Given the description of an element on the screen output the (x, y) to click on. 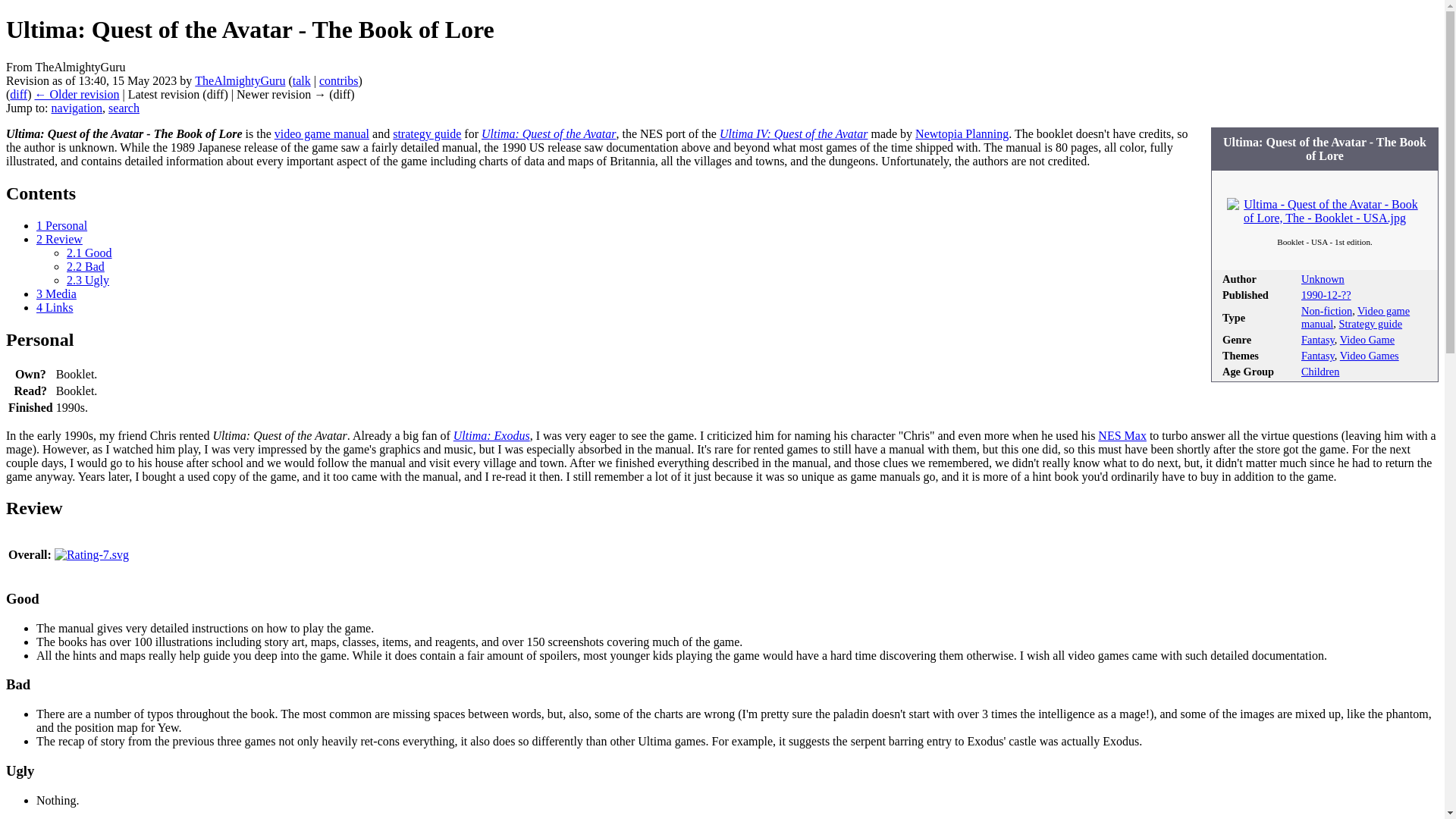
Strategy guide (427, 133)
TheAlmightyGuru (240, 80)
Video game manual (322, 133)
Category:Media Theme - Video Games (1369, 355)
diff (18, 93)
Video game manual (1355, 317)
4 Links (54, 307)
Fantasy (1318, 339)
NES Max (1122, 435)
Strategy guide (1371, 323)
Category:Book Genre - Video Game (1366, 339)
Ultima: Quest of the Avatar (548, 133)
Category:Book Genre - Fantasy (1318, 339)
Ultima: Quest of the Avatar - The Book of Lore (18, 93)
2.1 Good (89, 252)
